Given the description of an element on the screen output the (x, y) to click on. 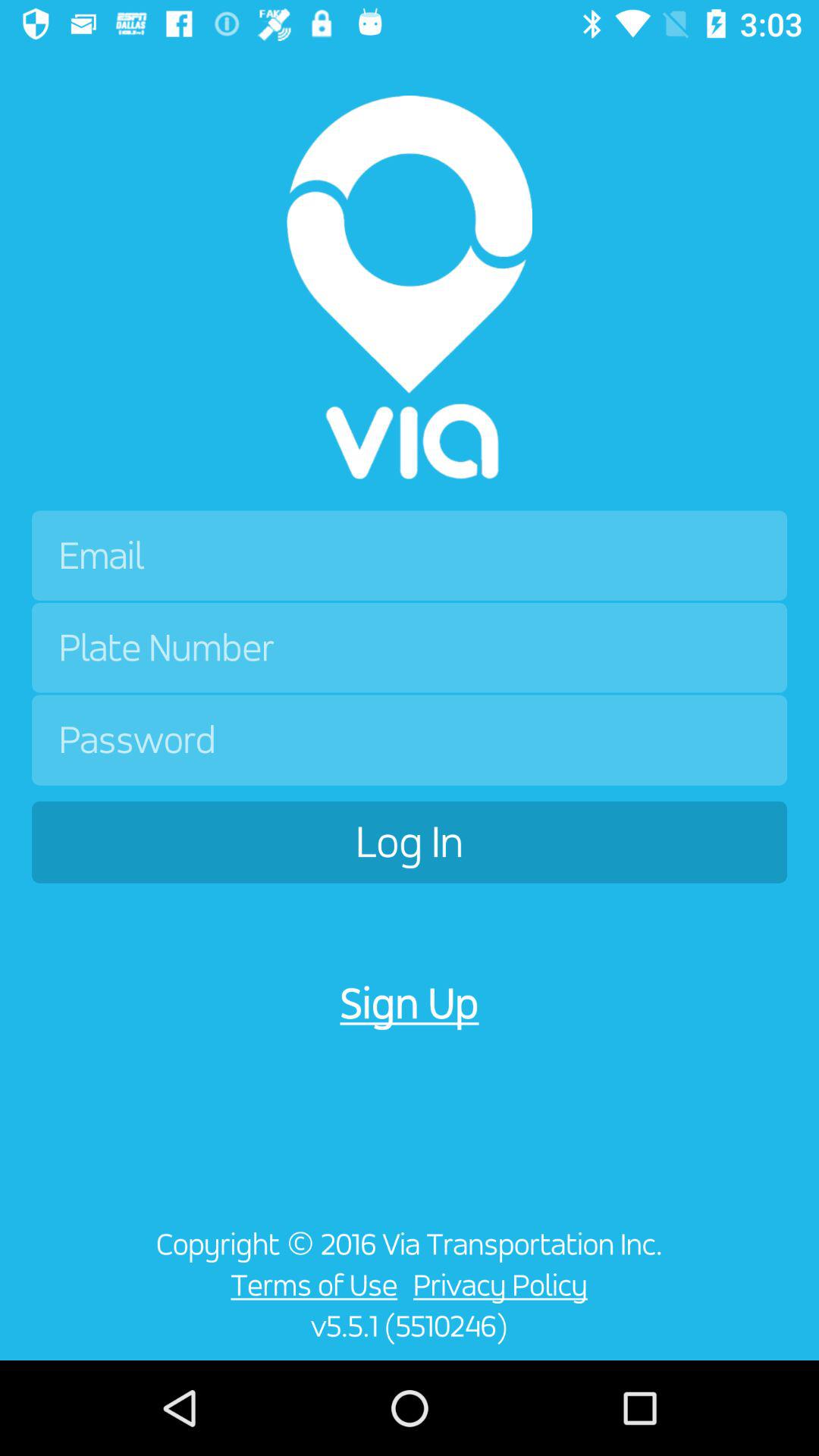
turn on the item next to the terms of use (504, 1284)
